Given the description of an element on the screen output the (x, y) to click on. 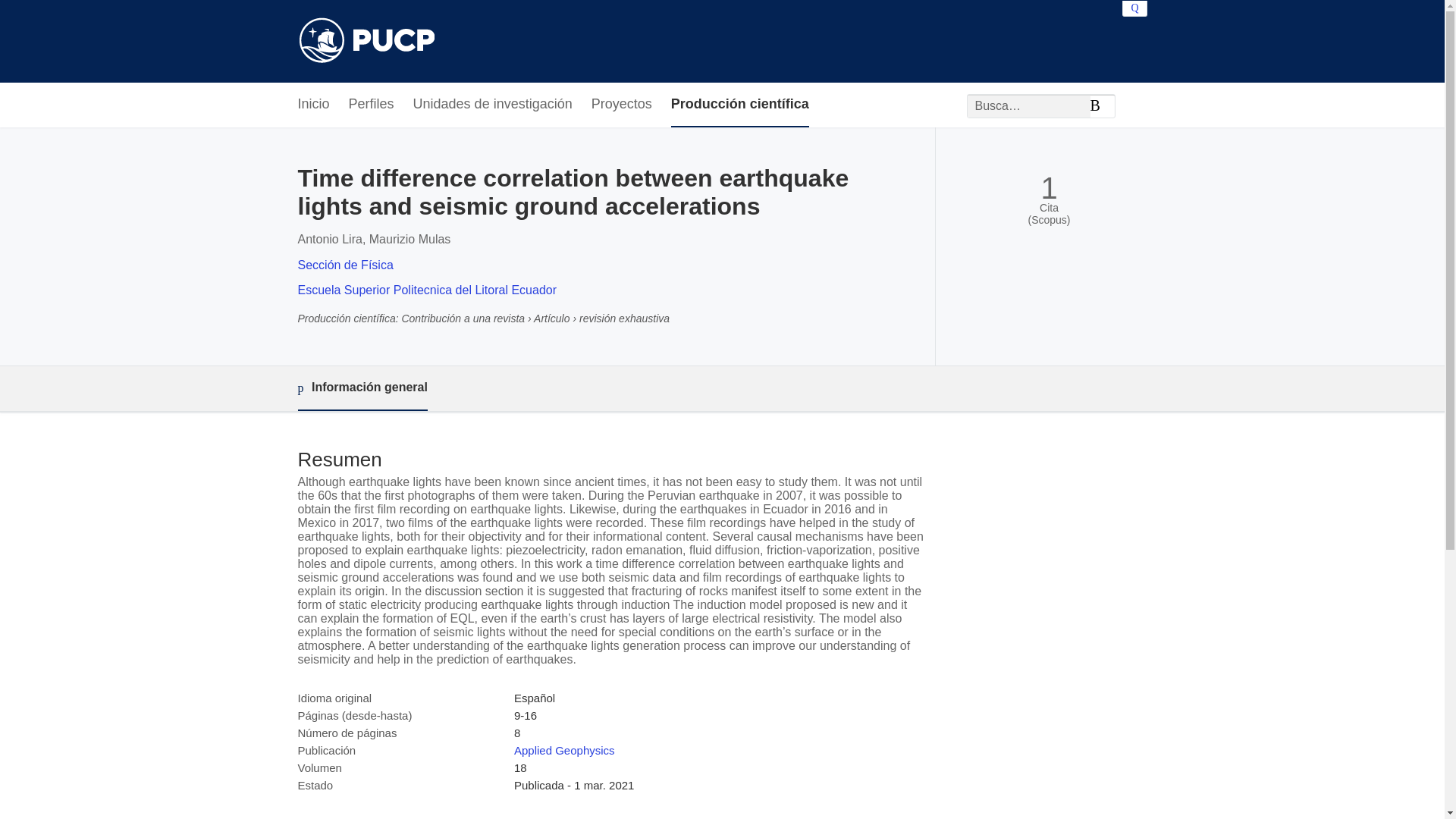
Applied Geophysics (563, 749)
Proyectos (621, 104)
Escuela Superior Politecnica del Litoral Ecuador (426, 289)
Perfiles (371, 104)
